Given the description of an element on the screen output the (x, y) to click on. 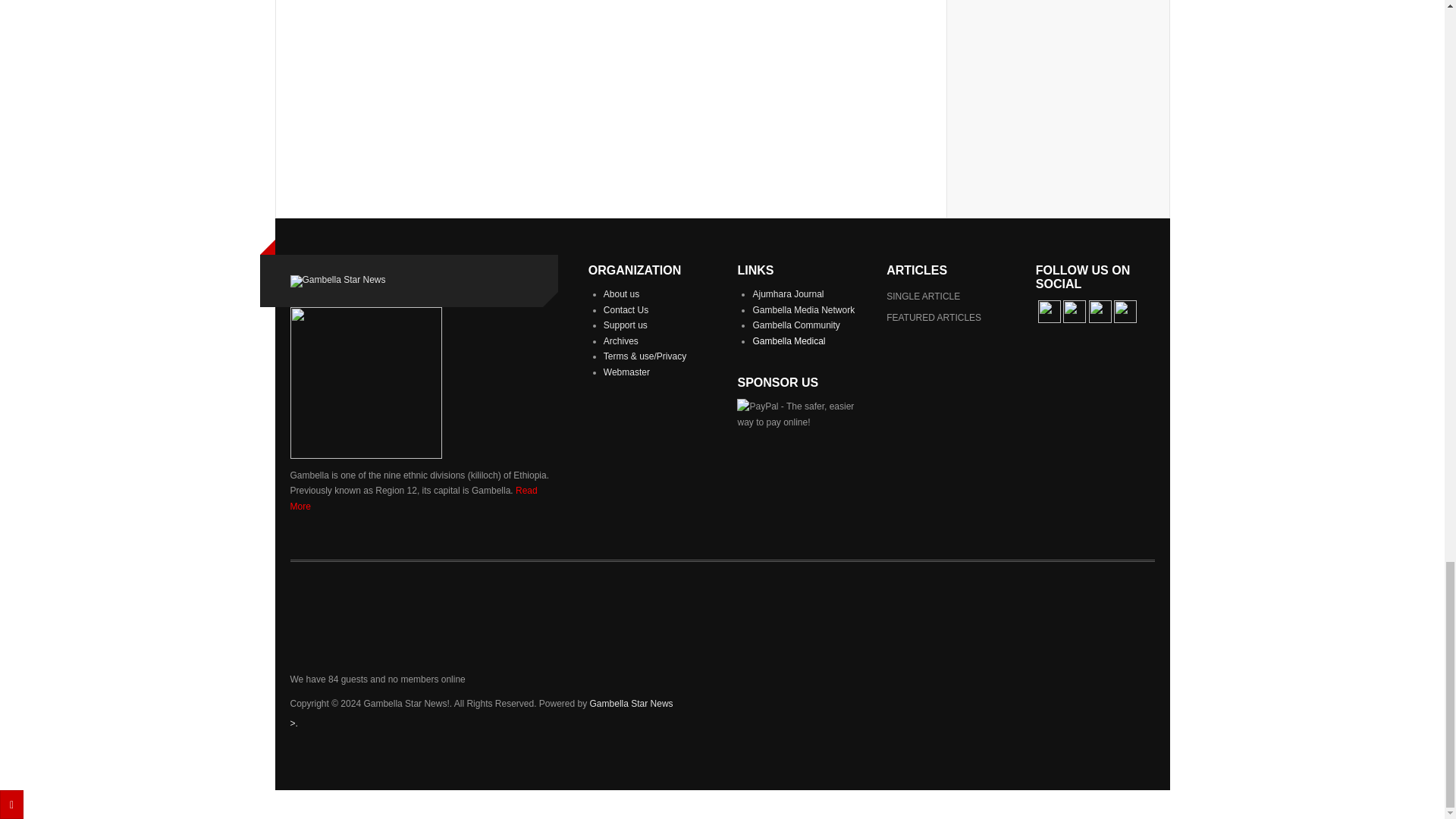
Gambella Star News (337, 281)
Gambella Star News (630, 703)
